Given the description of an element on the screen output the (x, y) to click on. 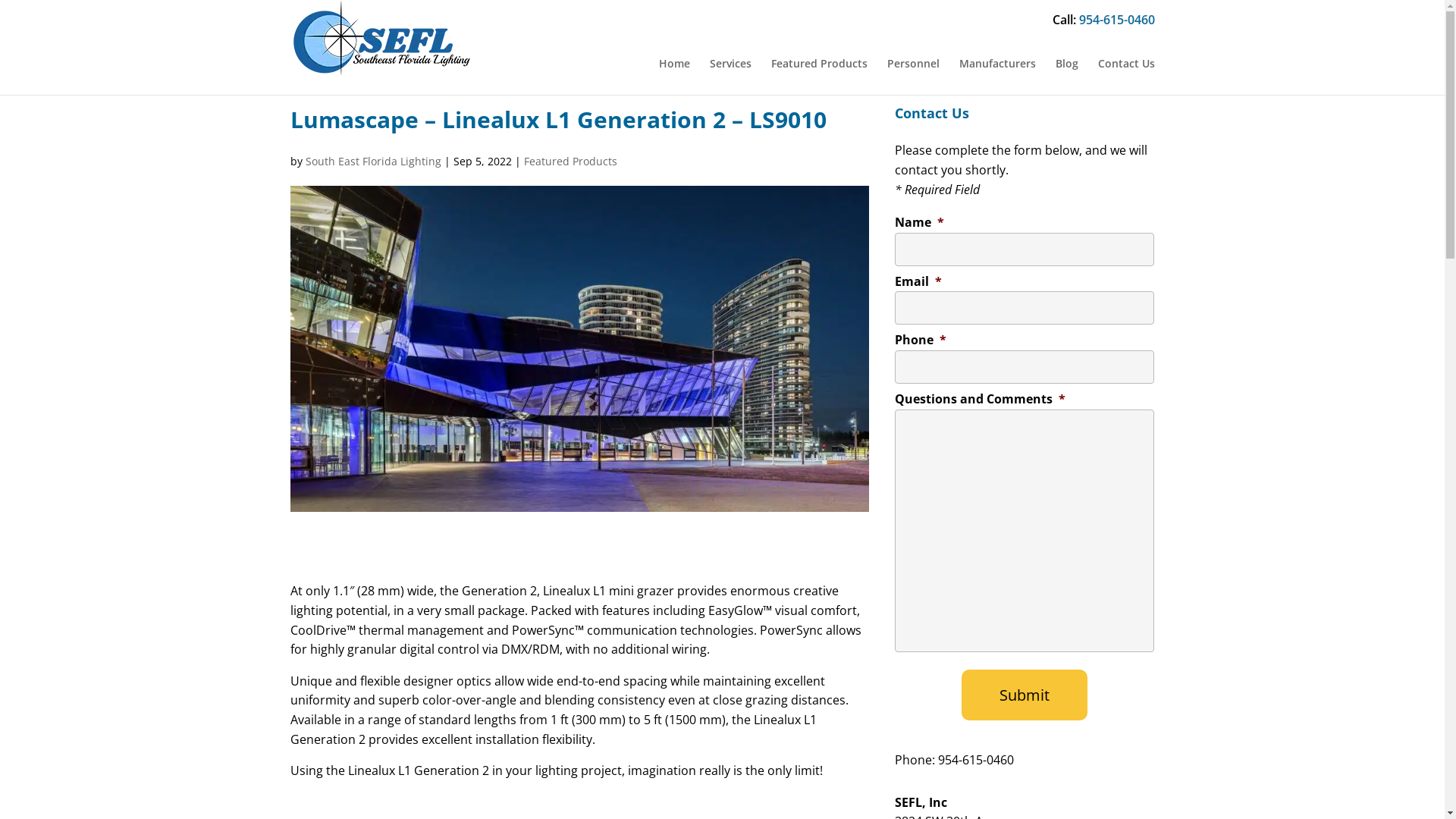
Blog Element type: text (1066, 63)
Featured Products Element type: text (818, 63)
Featured Products Element type: text (569, 160)
Home Element type: text (673, 63)
954-615-0460 Element type: text (1116, 19)
Submit Element type: text (1024, 694)
Personnel Element type: text (913, 63)
South East Florida Lighting Element type: text (372, 160)
Services Element type: text (730, 63)
Contact Us Element type: text (1126, 63)
Manufacturers Element type: text (996, 63)
